Given the description of an element on the screen output the (x, y) to click on. 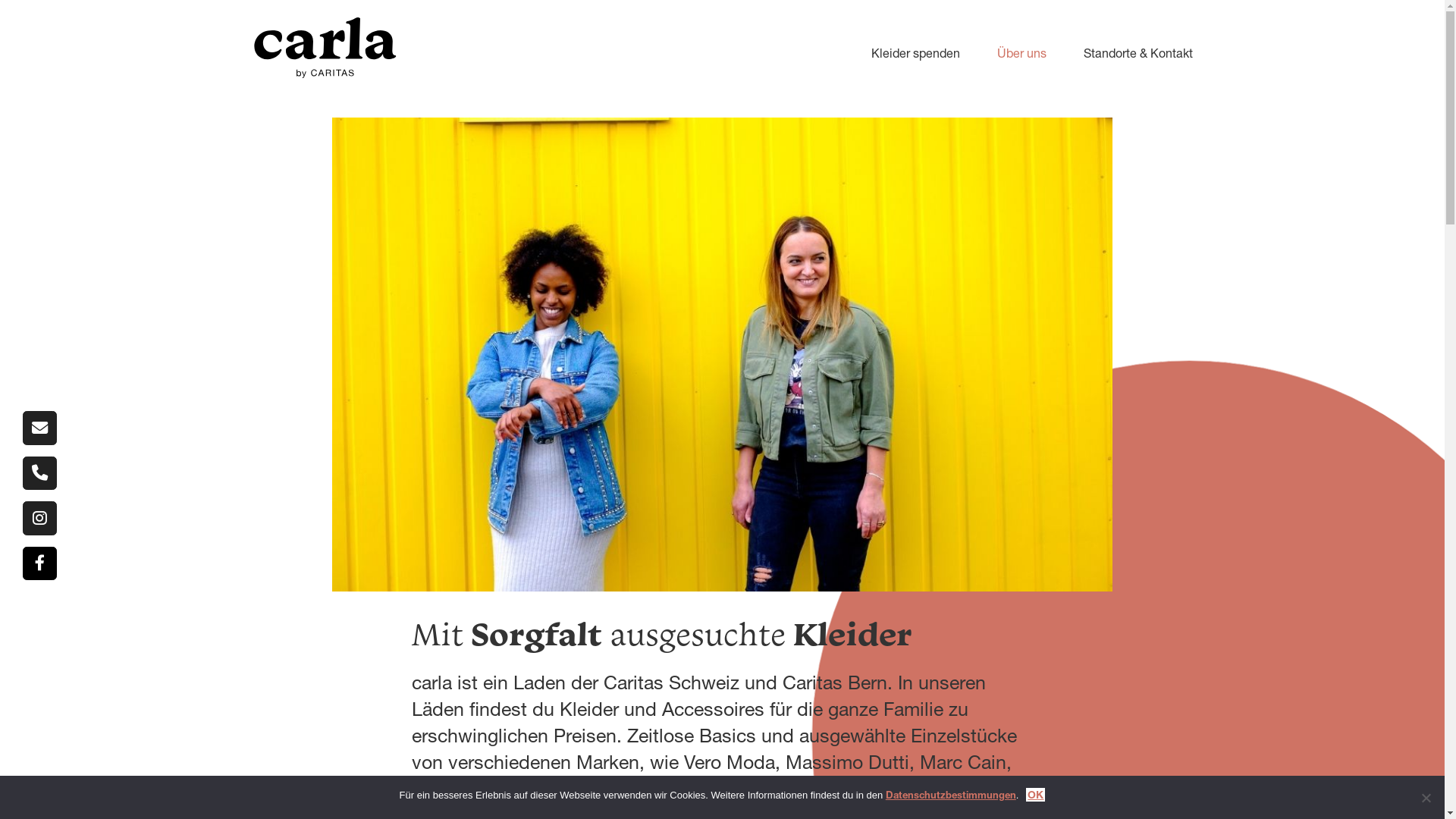
Carla by Caritas on Facebook Element type: hover (39, 563)
Nein Element type: hover (1425, 797)
Phone Carla by Caritas Element type: hover (39, 473)
Datenschutzbestimmungen Element type: text (950, 794)
OK Element type: text (1035, 794)
Kleider spenden Element type: text (899, 52)
Standorte & Kontakt Element type: text (1122, 52)
Carla by Caritas on Instagram Element type: hover (39, 518)
Carla by Caritas on Envelope Element type: hover (39, 428)
